Given the description of an element on the screen output the (x, y) to click on. 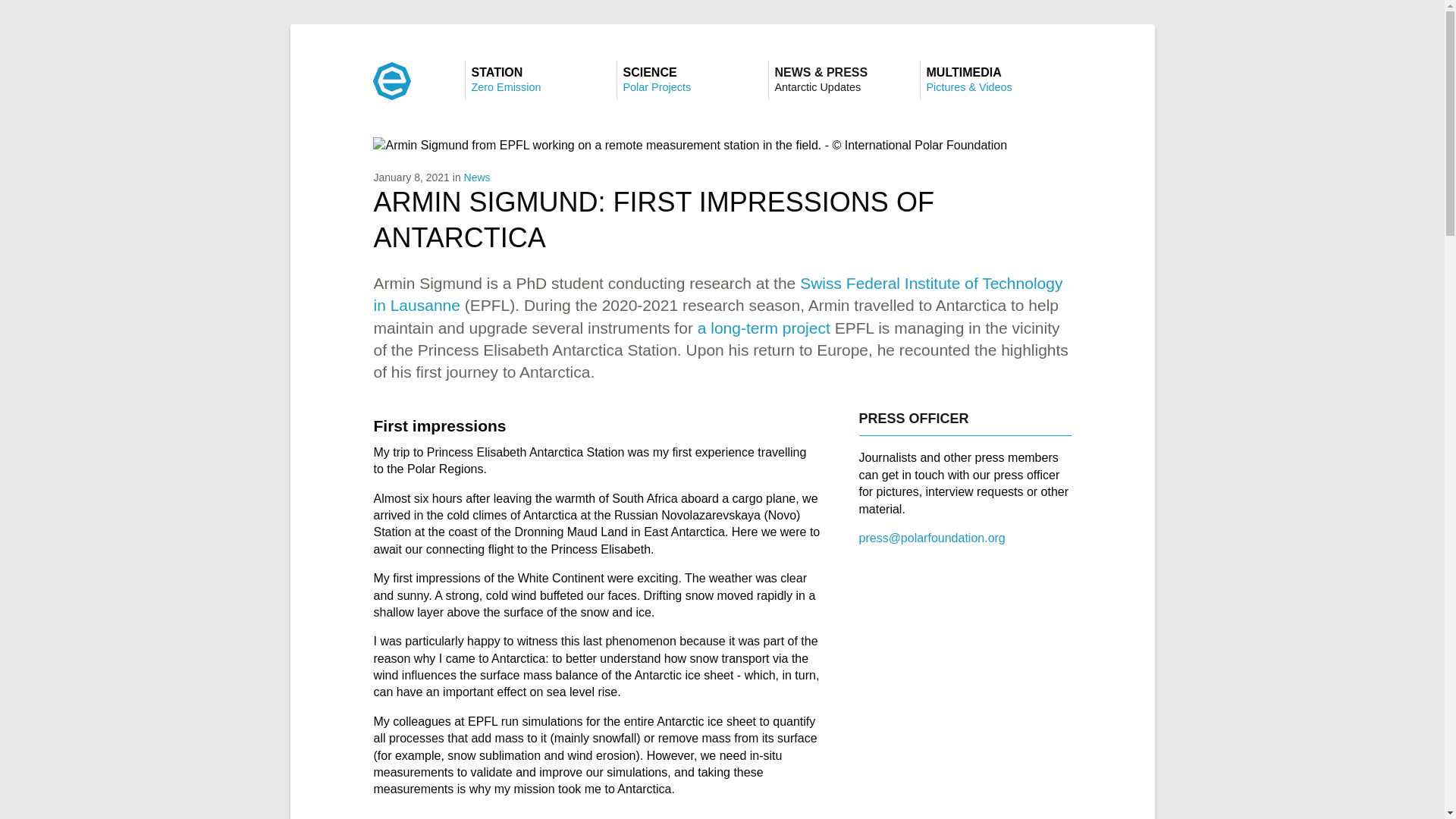
News (691, 79)
a long-term project (477, 177)
Swiss Federal Institute of Technology in Lausanne (763, 327)
